Given the description of an element on the screen output the (x, y) to click on. 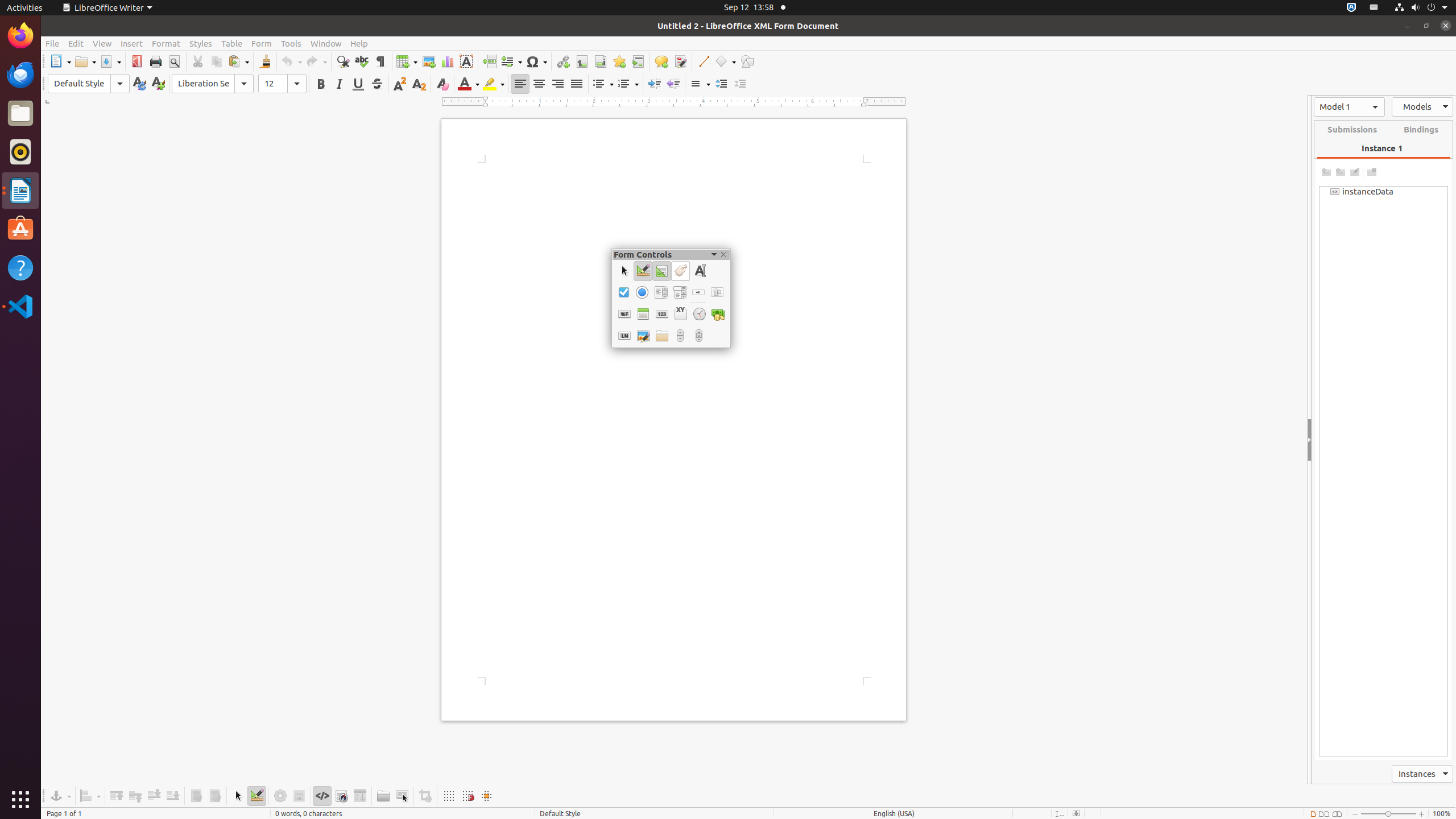
Show Applications Element type: toggle-button (20, 799)
Select Element type: push-button (623, 270)
System Element type: menu (1420, 7)
Label Element type: toggle-button (680, 270)
Rhythmbox Element type: push-button (20, 151)
